Given the description of an element on the screen output the (x, y) to click on. 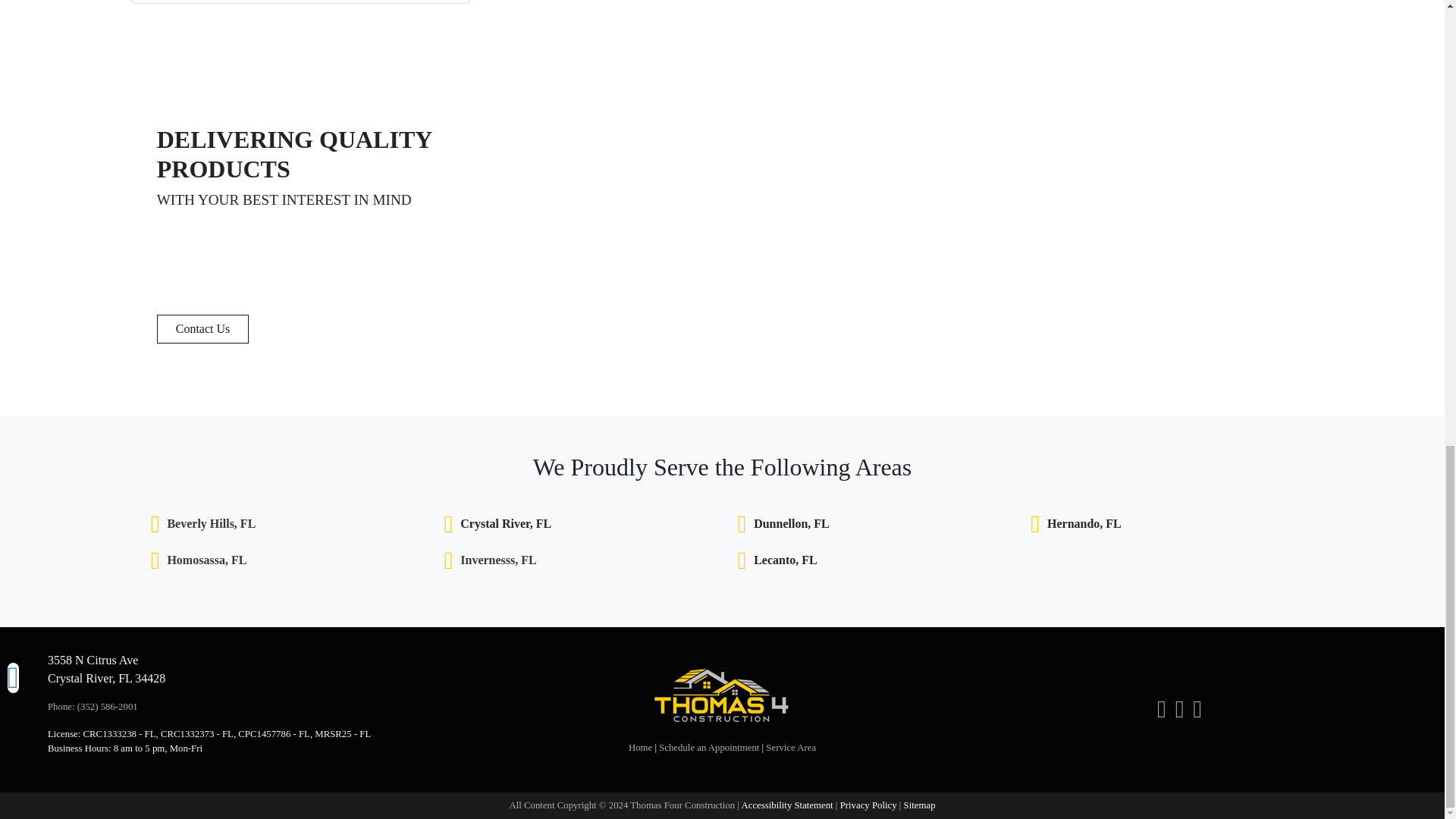
Contact Us (202, 328)
Beverly Hills, FL (211, 524)
Service Area (790, 747)
Invernesss, FL (497, 560)
Home (640, 747)
Homosassa, FL (206, 560)
Schedule an Appointment (708, 747)
